Given the description of an element on the screen output the (x, y) to click on. 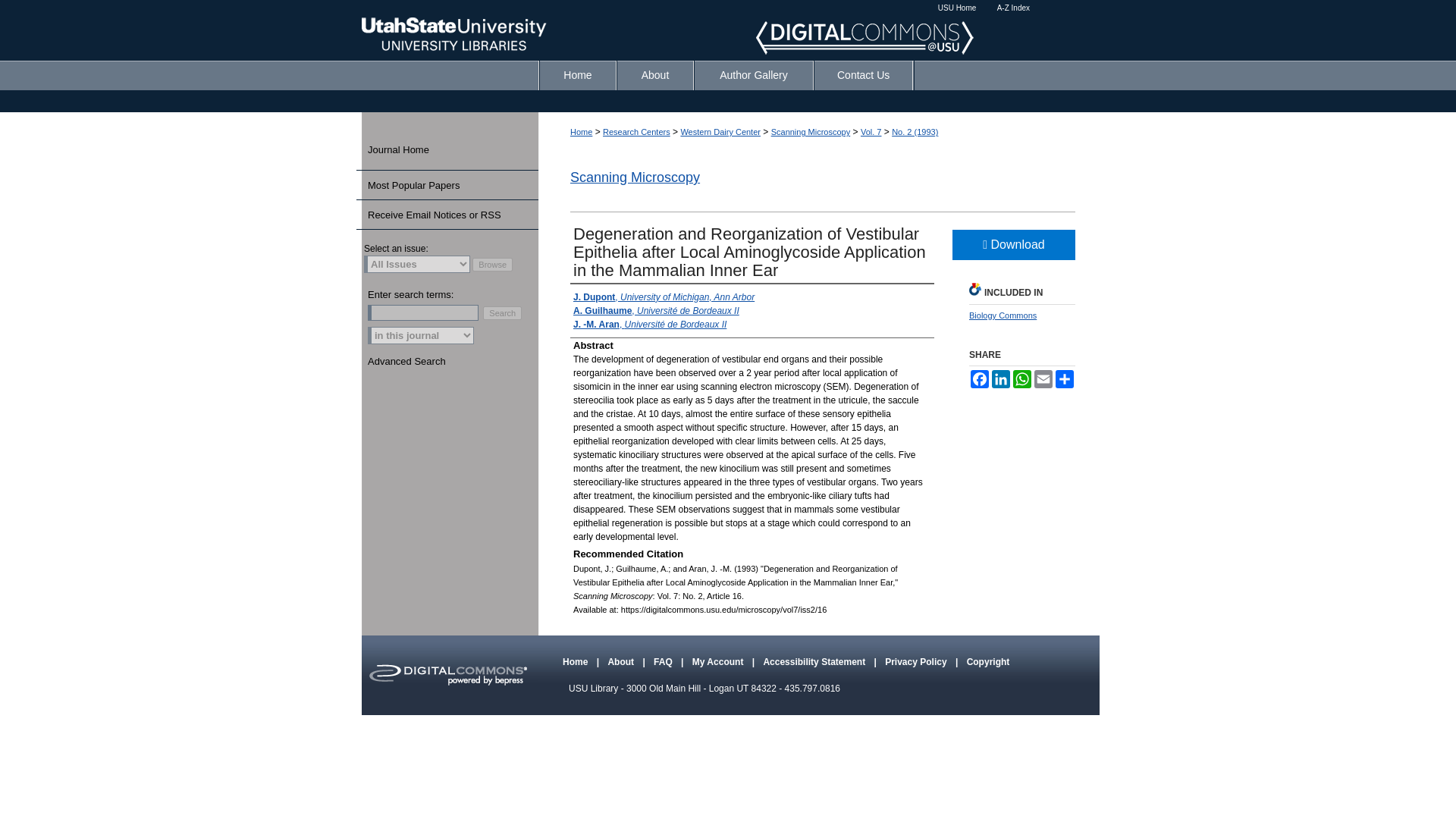
Browse (491, 264)
About (654, 75)
Browse (491, 264)
Home (576, 75)
Download (1013, 245)
Scanning Microscopy (635, 177)
USU Home (956, 8)
Vol. 7 (871, 131)
WhatsApp (1021, 379)
Contact Us (862, 75)
Search (502, 313)
Author Gallery (753, 75)
Journal Home (453, 150)
Research Centers (635, 131)
Home (576, 75)
